Given the description of an element on the screen output the (x, y) to click on. 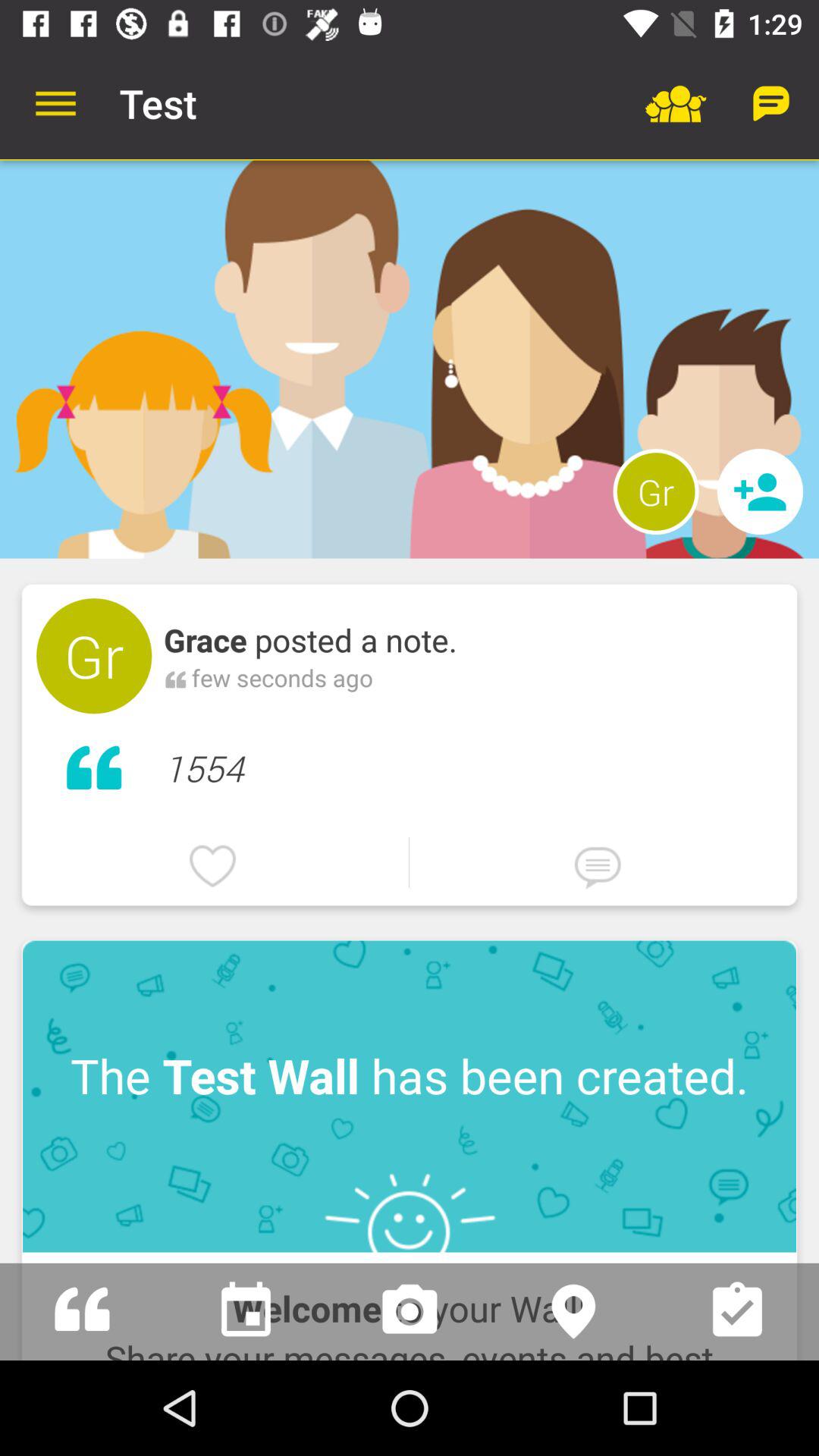
turn off item to the left of the test app (55, 103)
